Given the description of an element on the screen output the (x, y) to click on. 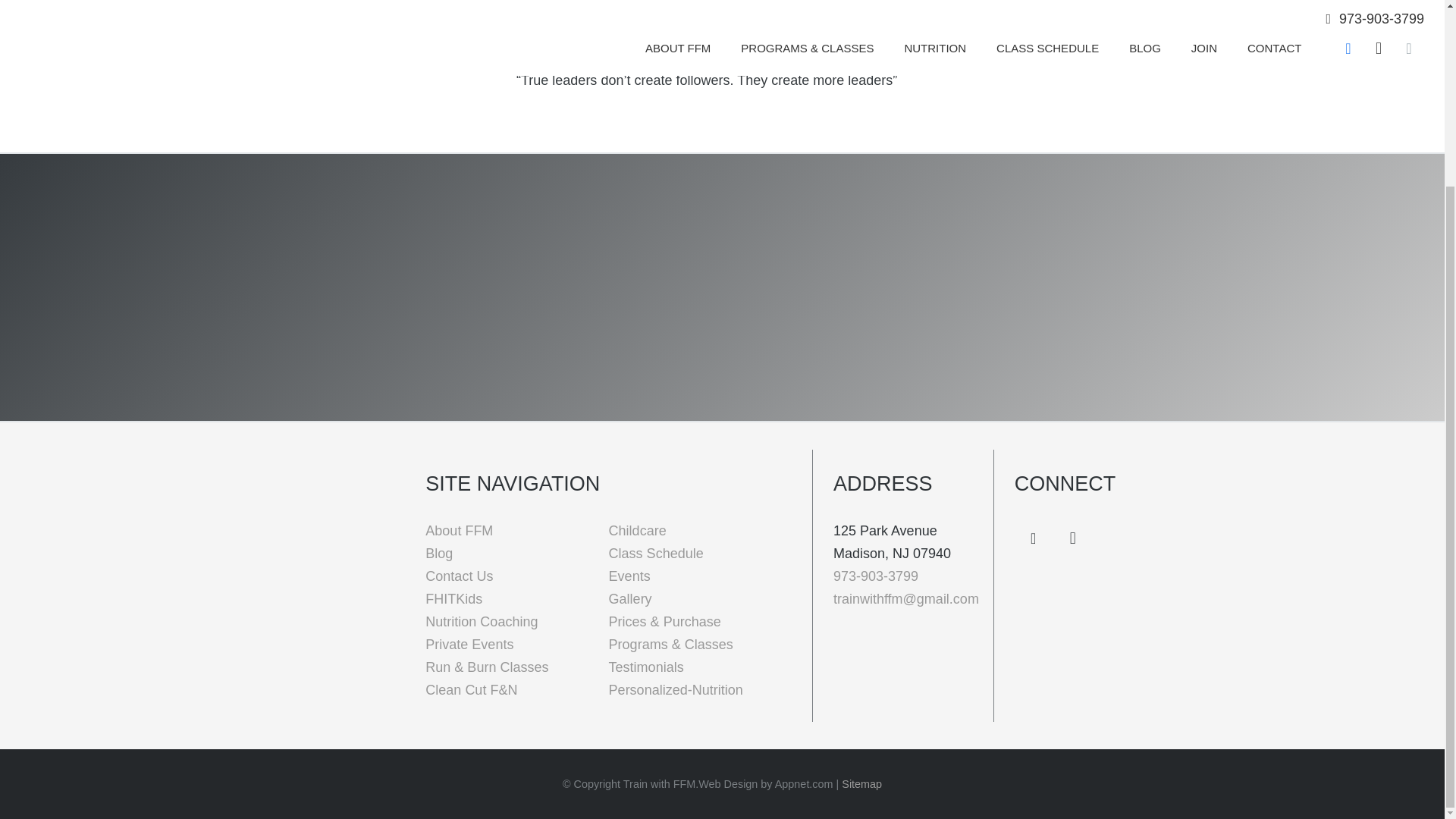
Instagram (1073, 538)
Private Events (469, 644)
Class Schedule (655, 553)
Gallery (630, 598)
Childcare (637, 530)
Blog (438, 553)
Nutrition Coaching (481, 621)
Facebook (1033, 538)
Events (629, 575)
About FFM (459, 530)
